Given the description of an element on the screen output the (x, y) to click on. 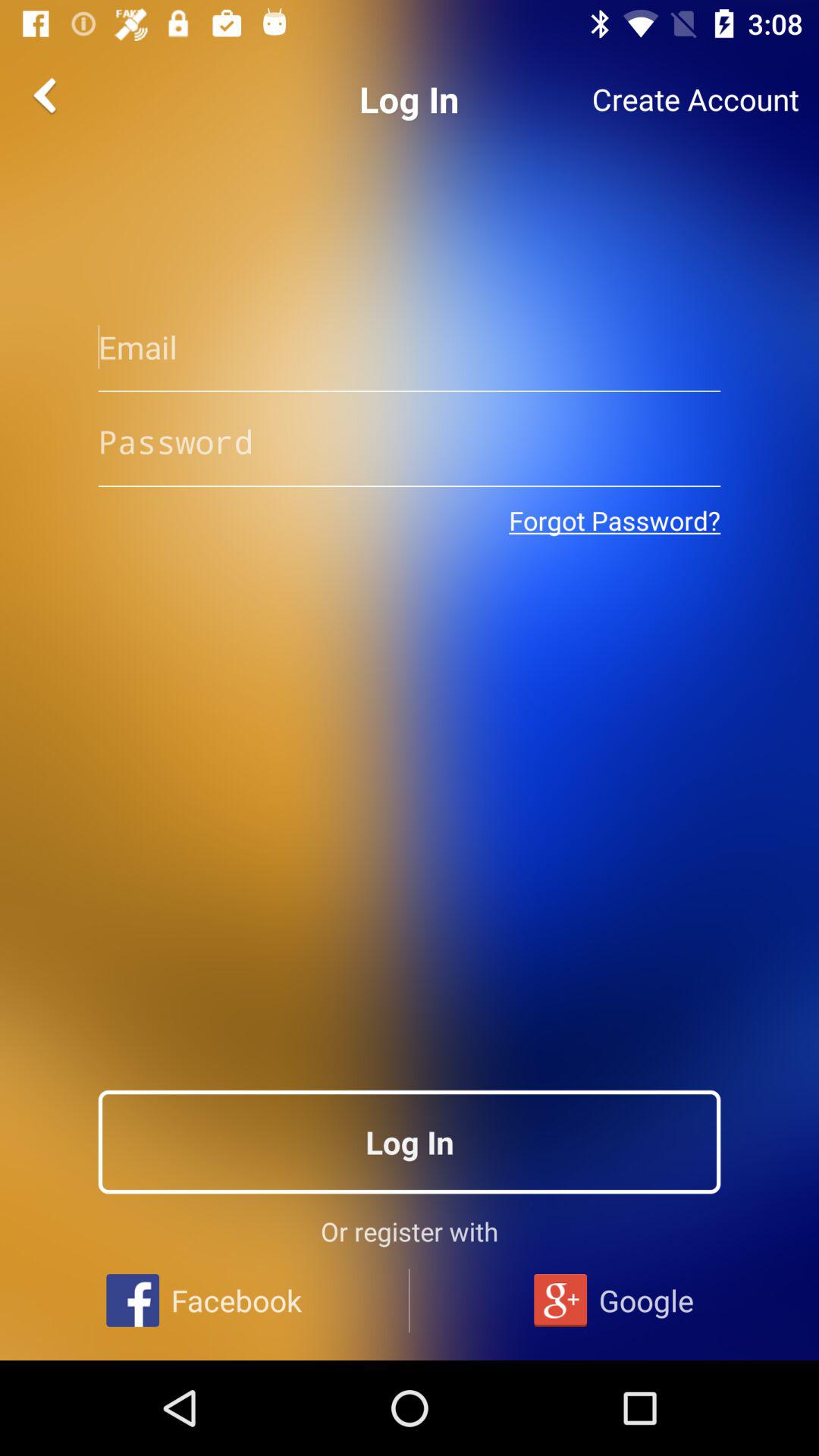
type your email address here (409, 347)
